Given the description of an element on the screen output the (x, y) to click on. 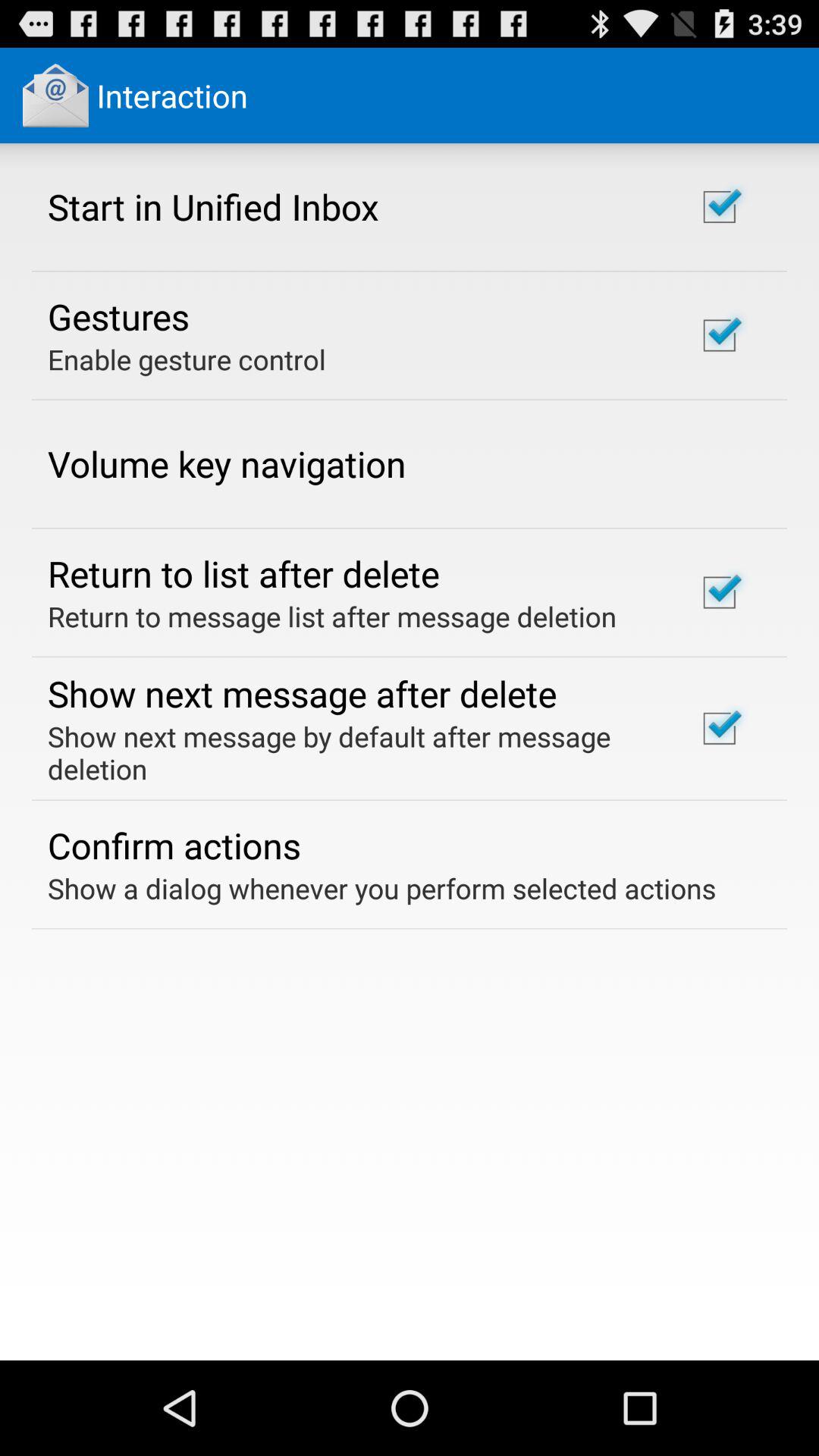
swipe until start in unified (212, 206)
